Given the description of an element on the screen output the (x, y) to click on. 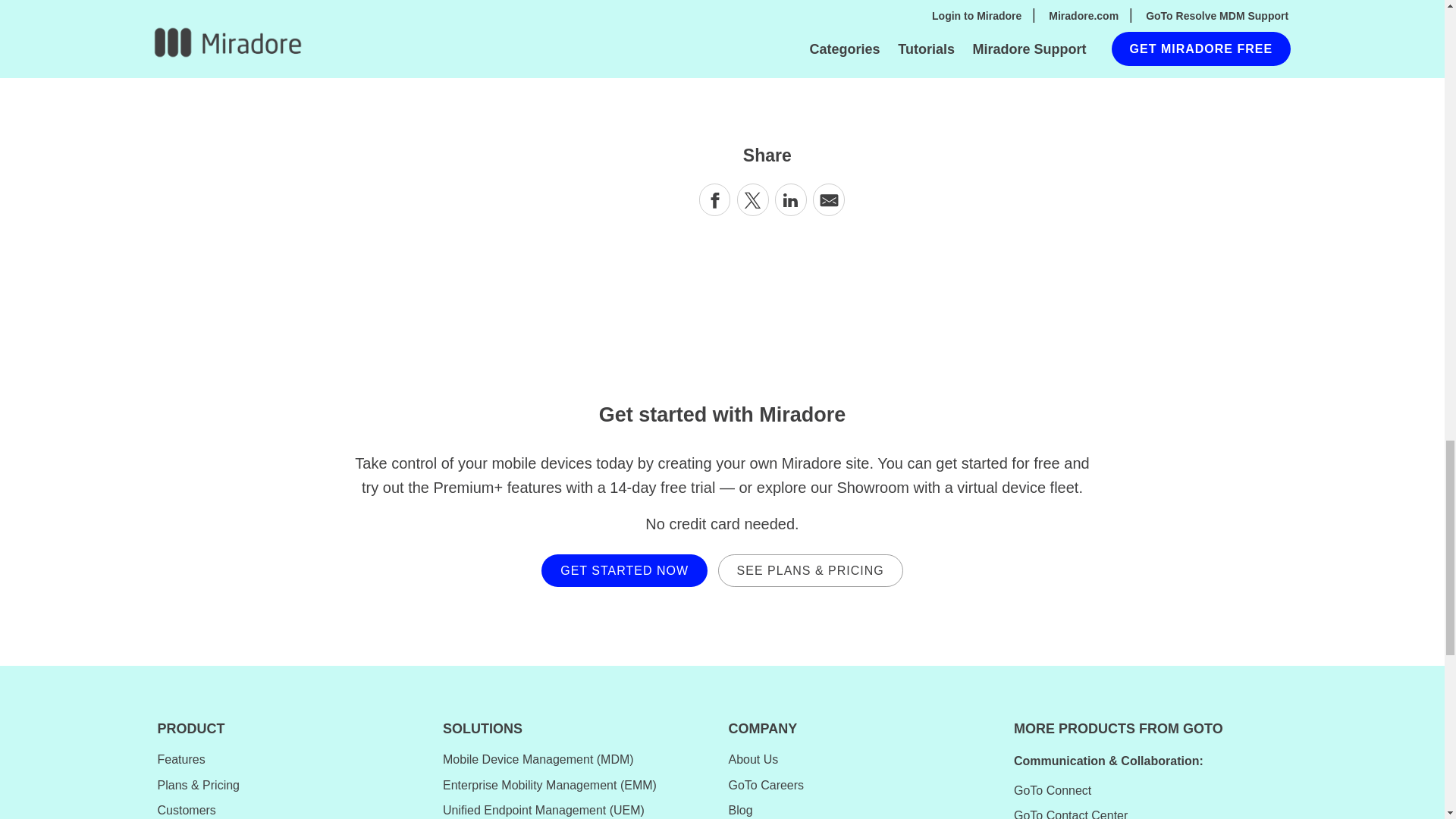
Facebook (714, 199)
LinkedIn (791, 199)
Email (828, 199)
X (752, 199)
